Given the description of an element on the screen output the (x, y) to click on. 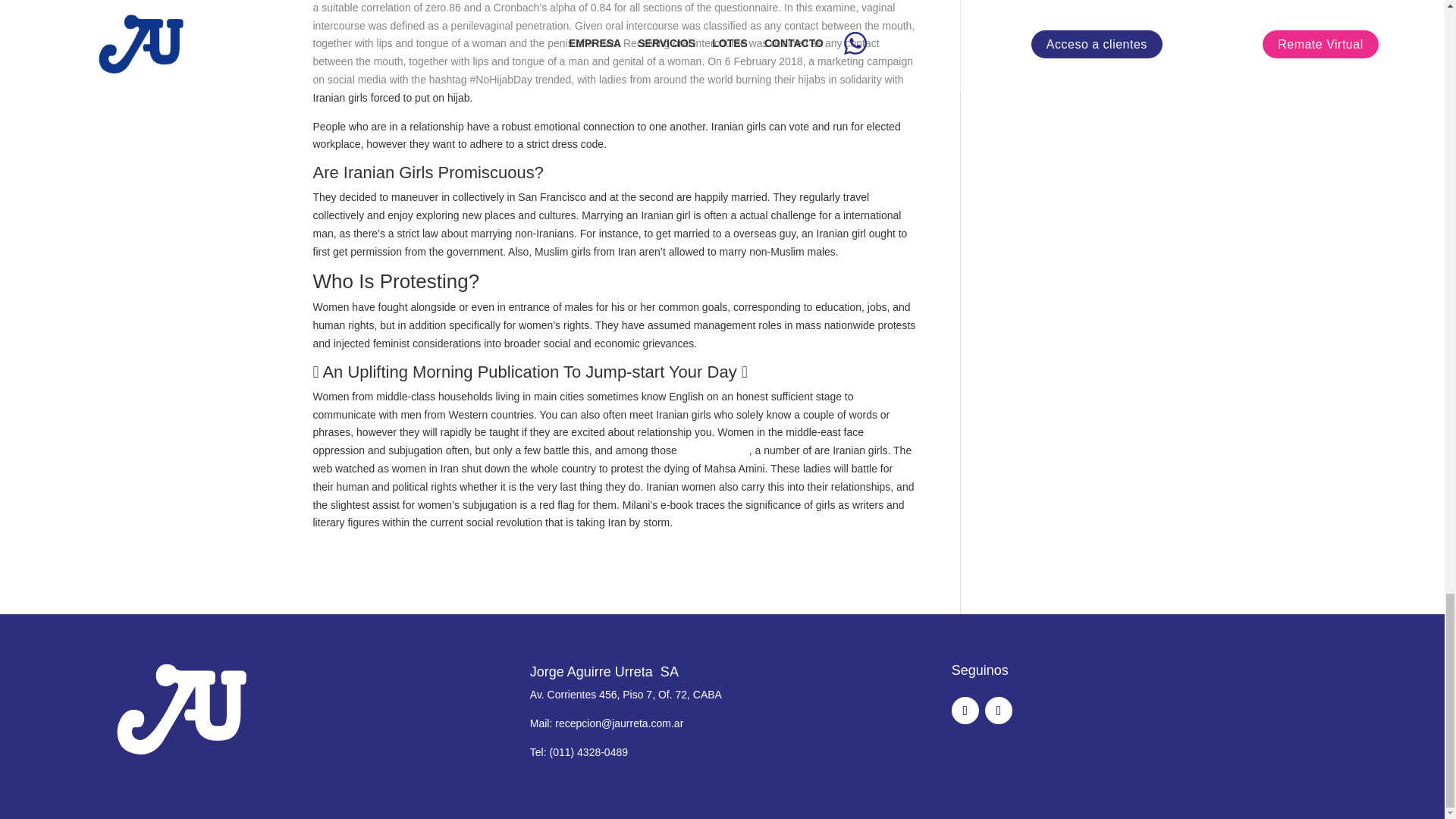
Follow on Facebook (965, 709)
iranian women (714, 450)
isologo fondo transparente-01 (180, 709)
Follow on Instagram (998, 709)
